Given the description of an element on the screen output the (x, y) to click on. 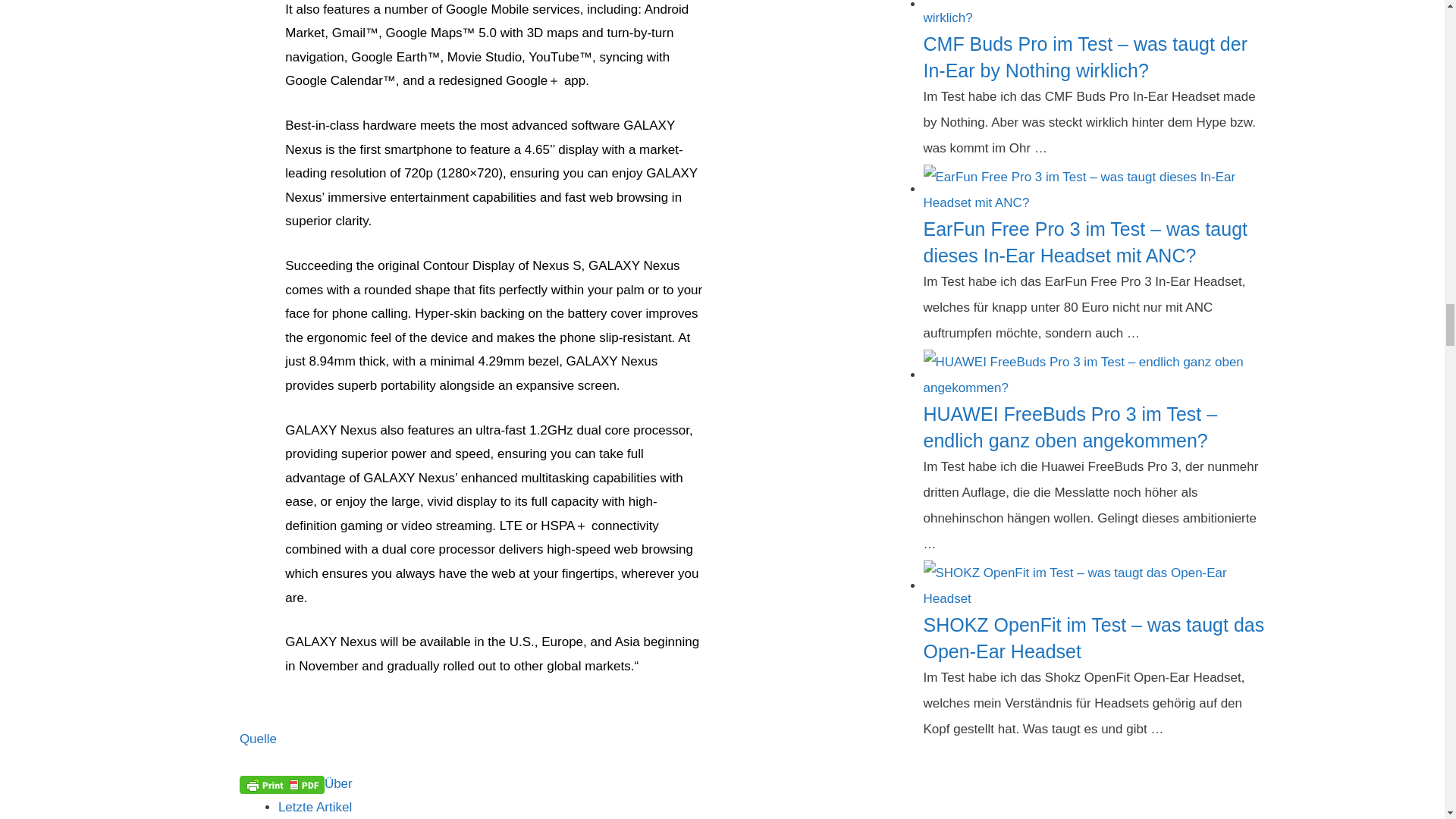
Letzte Artikel (315, 807)
Quelle (258, 739)
